Given the description of an element on the screen output the (x, y) to click on. 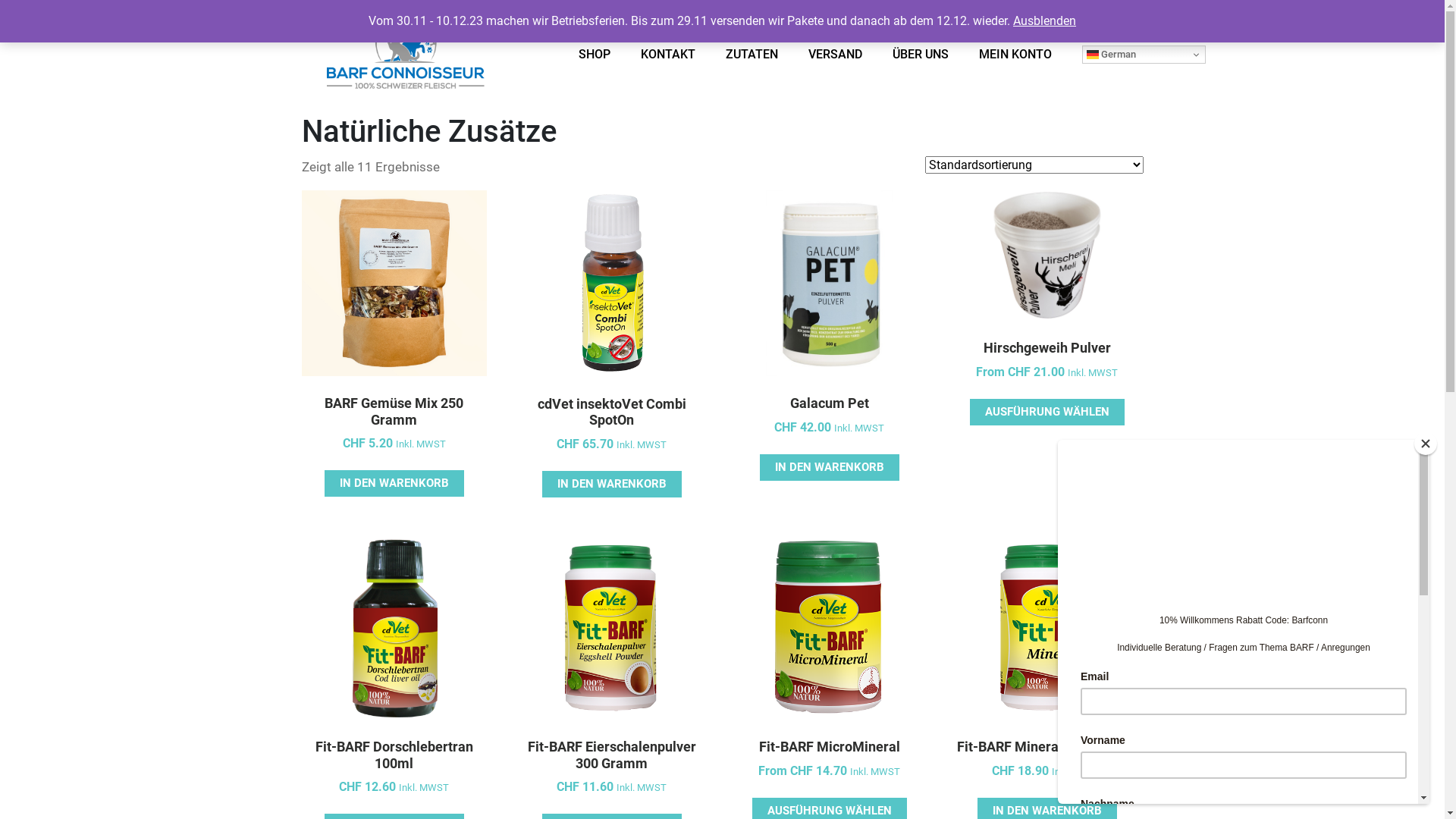
info@barf-connoisseur.ch Element type: text (766, 26)
logo Element type: hover (403, 59)
IN DEN WARENKORB Element type: text (829, 467)
KONTAKT Element type: text (667, 59)
Ausblenden Element type: text (1044, 20)
IN DEN WARENKORB Element type: text (394, 483)
Galacum Pet
CHF 42.00 Inkl. MWST Element type: text (829, 331)
cart Element type: hover (1135, 22)
Fit-BARF MicroMineral
From CHF 14.70 Inkl. MWST Element type: text (829, 675)
IN DEN WARENKORB Element type: text (611, 483)
Fit-BARF Mineral 300 Gramm
CHF 18.90 Inkl. MWST Element type: text (1046, 675)
MEIN KONTO Element type: text (1015, 59)
Call +41794004818 Element type: text (1016, 20)
0 Element type: text (1135, 21)
SHOP Element type: text (594, 59)
German Element type: text (1143, 54)
cdVet insektoVet Combi SpotOn
CHF 65.70 Inkl. MWST Element type: text (611, 340)
Hirschgeweih Pulver
From CHF 21.00 Inkl. MWST Element type: text (1046, 303)
ZUTATEN Element type: text (751, 59)
VERSAND Element type: text (835, 59)
